Given the description of an element on the screen output the (x, y) to click on. 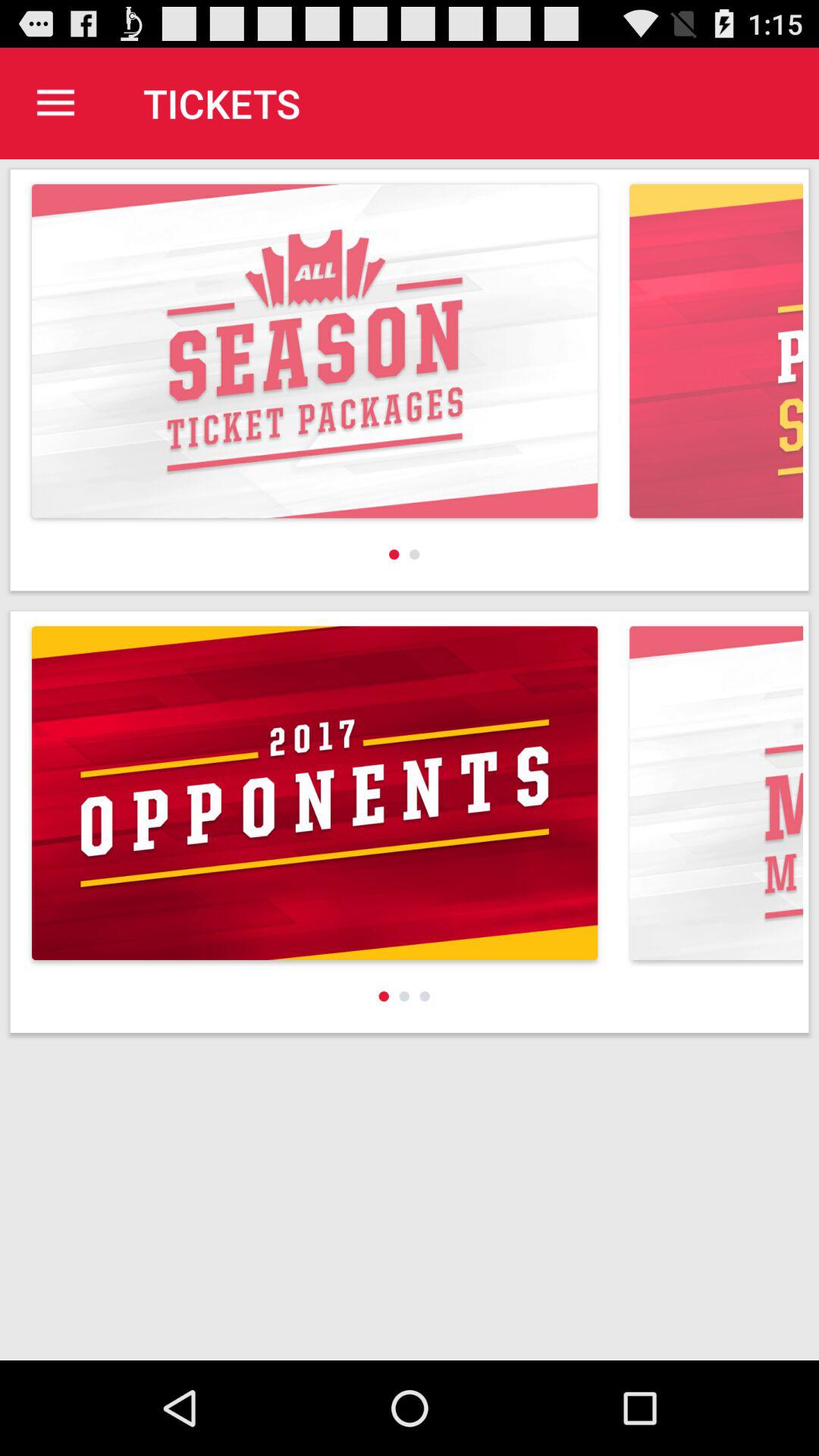
open item next to the tickets icon (55, 103)
